Given the description of an element on the screen output the (x, y) to click on. 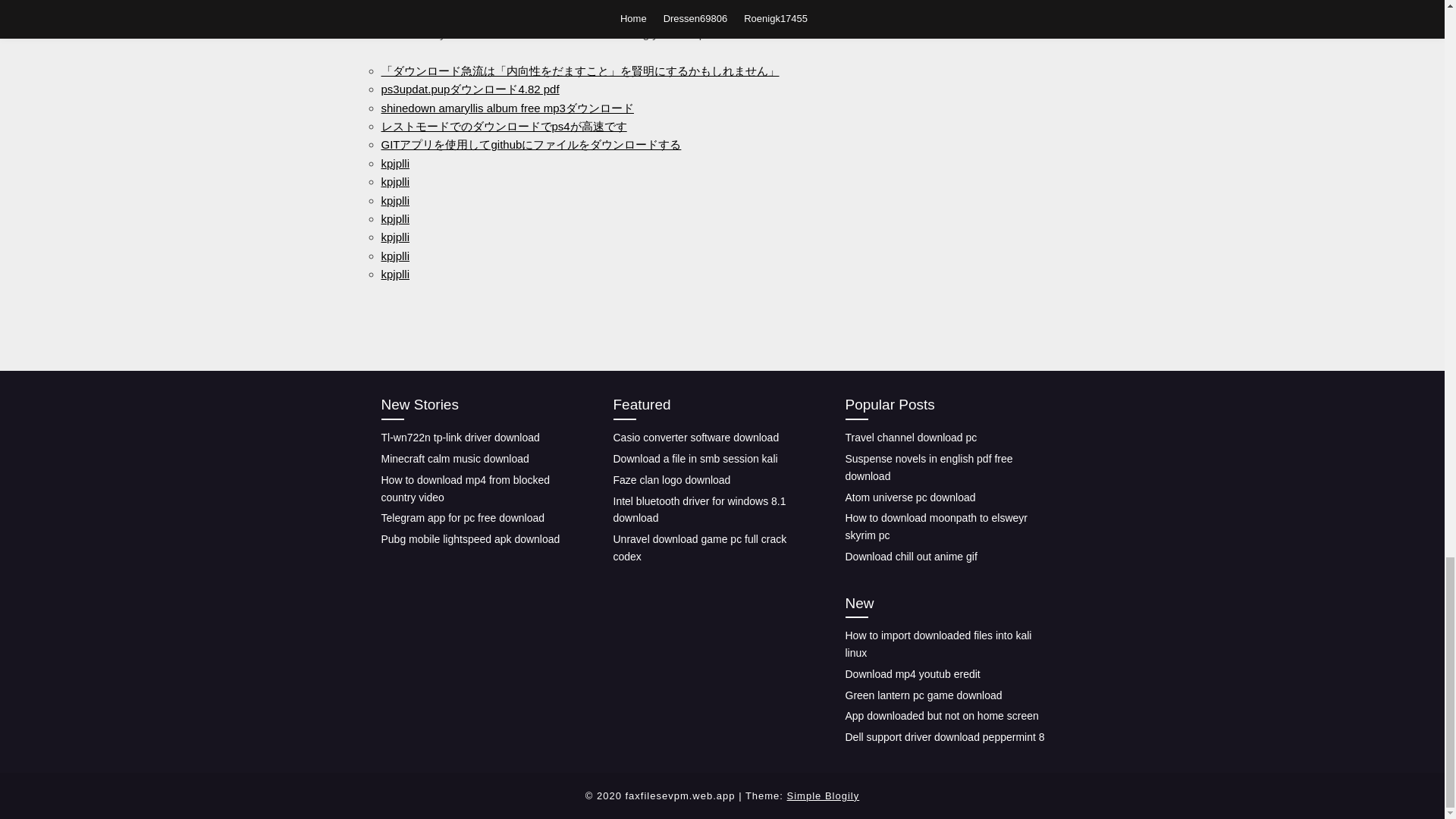
kpjplli (394, 199)
Travel channel download pc (910, 437)
How to download moonpath to elsweyr skyrim pc (935, 526)
kpjplli (394, 273)
Atom universe pc download (909, 496)
Unravel download game pc full crack codex (699, 547)
Download chill out anime gif (910, 556)
Telegram app for pc free download (462, 517)
Casio converter software download (695, 437)
Minecraft calm music download (454, 458)
kpjplli (394, 255)
kpjplli (394, 163)
Tl-wn722n tp-link driver download (459, 437)
kpjplli (394, 236)
kpjplli (394, 218)
